Given the description of an element on the screen output the (x, y) to click on. 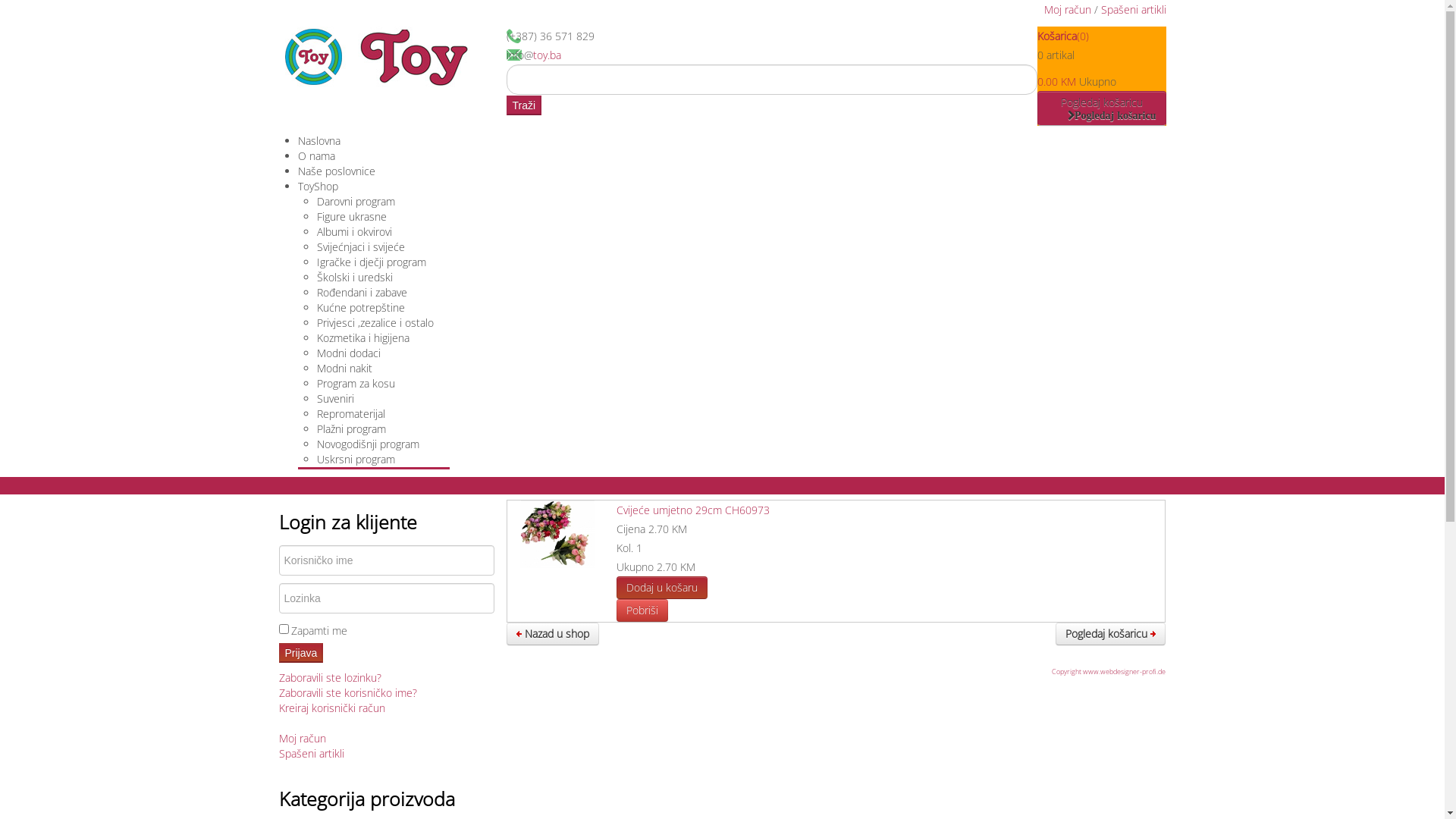
Zaboravili ste lozinku? Element type: text (330, 677)
Albumi i okvirovi Element type: text (354, 231)
Nazad u shop Element type: text (552, 633)
Privjesci ,zezalice i ostalo Element type: text (374, 322)
O nama Element type: text (315, 155)
ToyShop Element type: text (317, 185)
Uskrsni program Element type: text (355, 458)
Kozmetika i higijena Element type: text (362, 337)
Copyright www.webdesigner-profi.de Element type: text (1108, 671)
Modni nakit Element type: text (344, 367)
Figure ukrasne Element type: text (351, 216)
Repromaterijal Element type: text (350, 413)
Darovni program Element type: text (355, 201)
Naslovna Element type: text (318, 140)
Modni dodaci Element type: text (348, 352)
Prijava Element type: text (301, 652)
Program za kosu Element type: text (355, 383)
Suveniri Element type: text (335, 398)
